Given the description of an element on the screen output the (x, y) to click on. 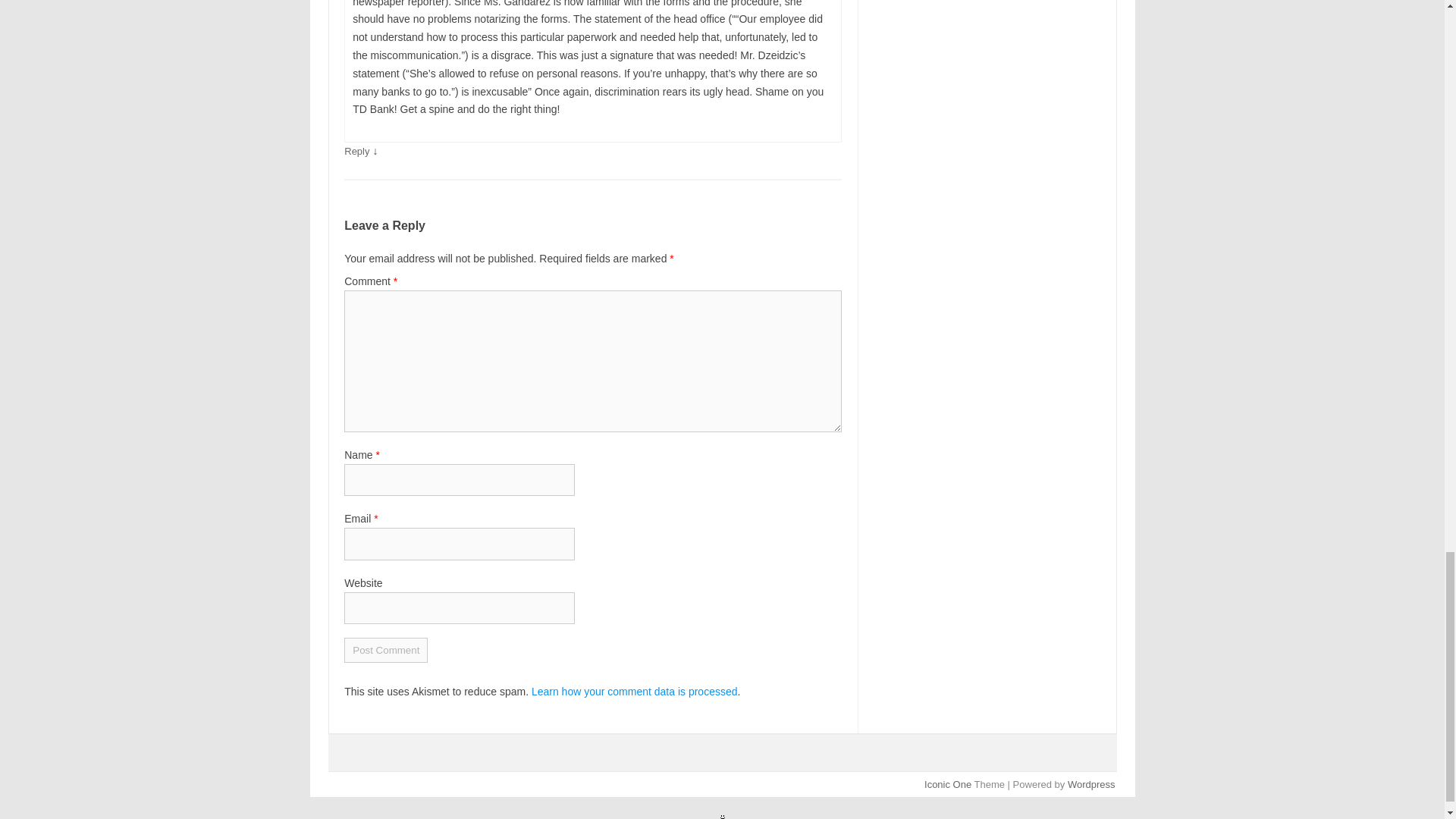
Reply (356, 151)
Learn how your comment data is processed (634, 691)
Post Comment (385, 650)
Post Comment (385, 650)
